Given the description of an element on the screen output the (x, y) to click on. 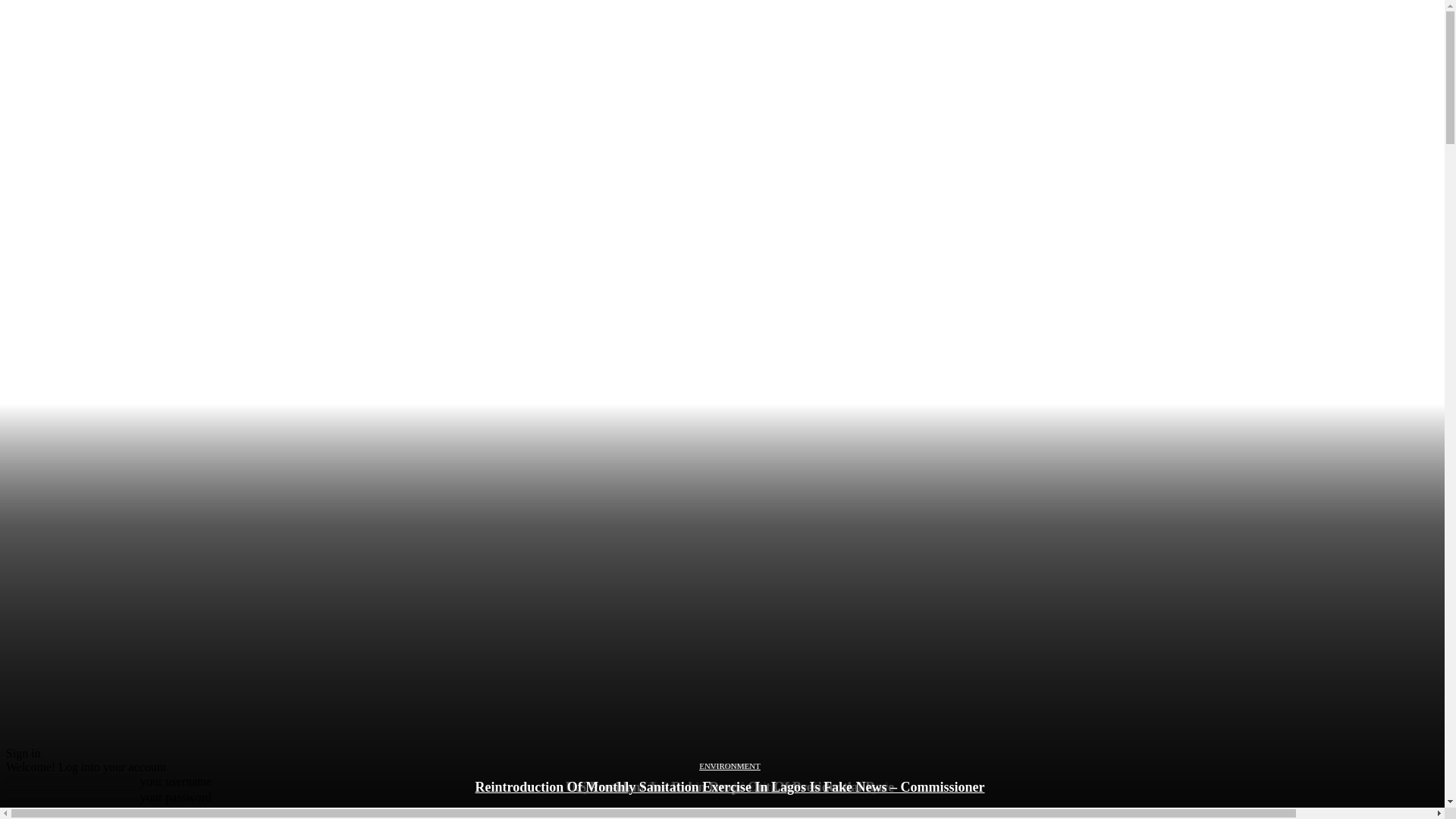
Login (24, 812)
